Given the description of an element on the screen output the (x, y) to click on. 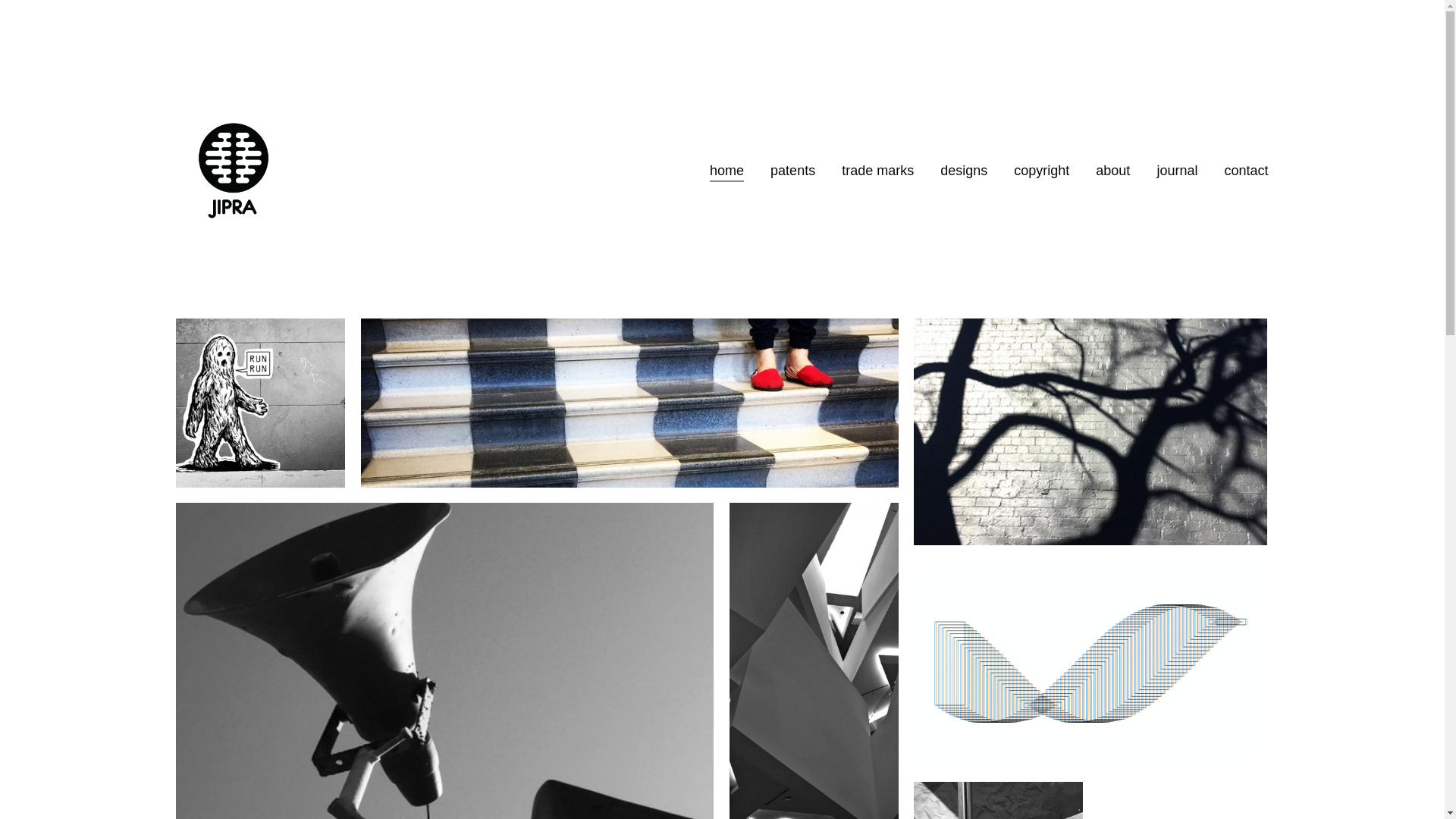
copyright Element type: text (1041, 170)
home Element type: text (726, 170)
journal Element type: text (1176, 170)
patents Element type: text (792, 170)
trade marks Element type: text (877, 170)
designs Element type: text (963, 170)
about Element type: text (1112, 170)
contact Element type: text (1245, 170)
